Given the description of an element on the screen output the (x, y) to click on. 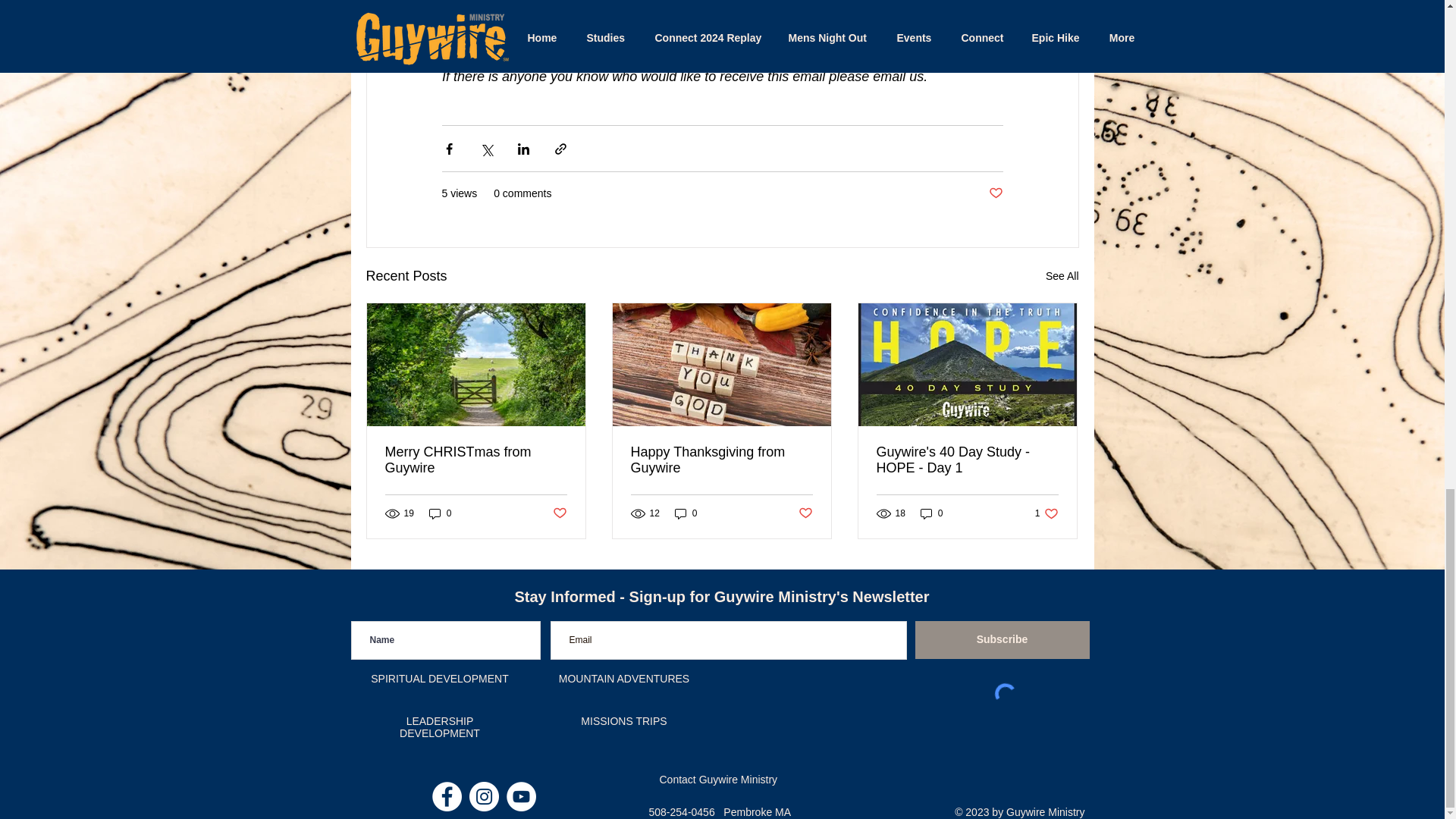
0 (685, 513)
Happy Thanksgiving from Guywire (721, 459)
SPIRITUAL DEVELOPMENT (439, 678)
Post not marked as liked (804, 513)
MOUNTAIN ADVENTURES (623, 678)
MISSIONS TRIPS (623, 720)
LEADERSHIP DEVELOPMENT (439, 726)
0 (1046, 513)
Merry CHRISTmas from Guywire (440, 513)
0 (476, 459)
Post not marked as liked (931, 513)
See All (558, 513)
Post not marked as liked (1061, 276)
Subscribe (995, 193)
